Given the description of an element on the screen output the (x, y) to click on. 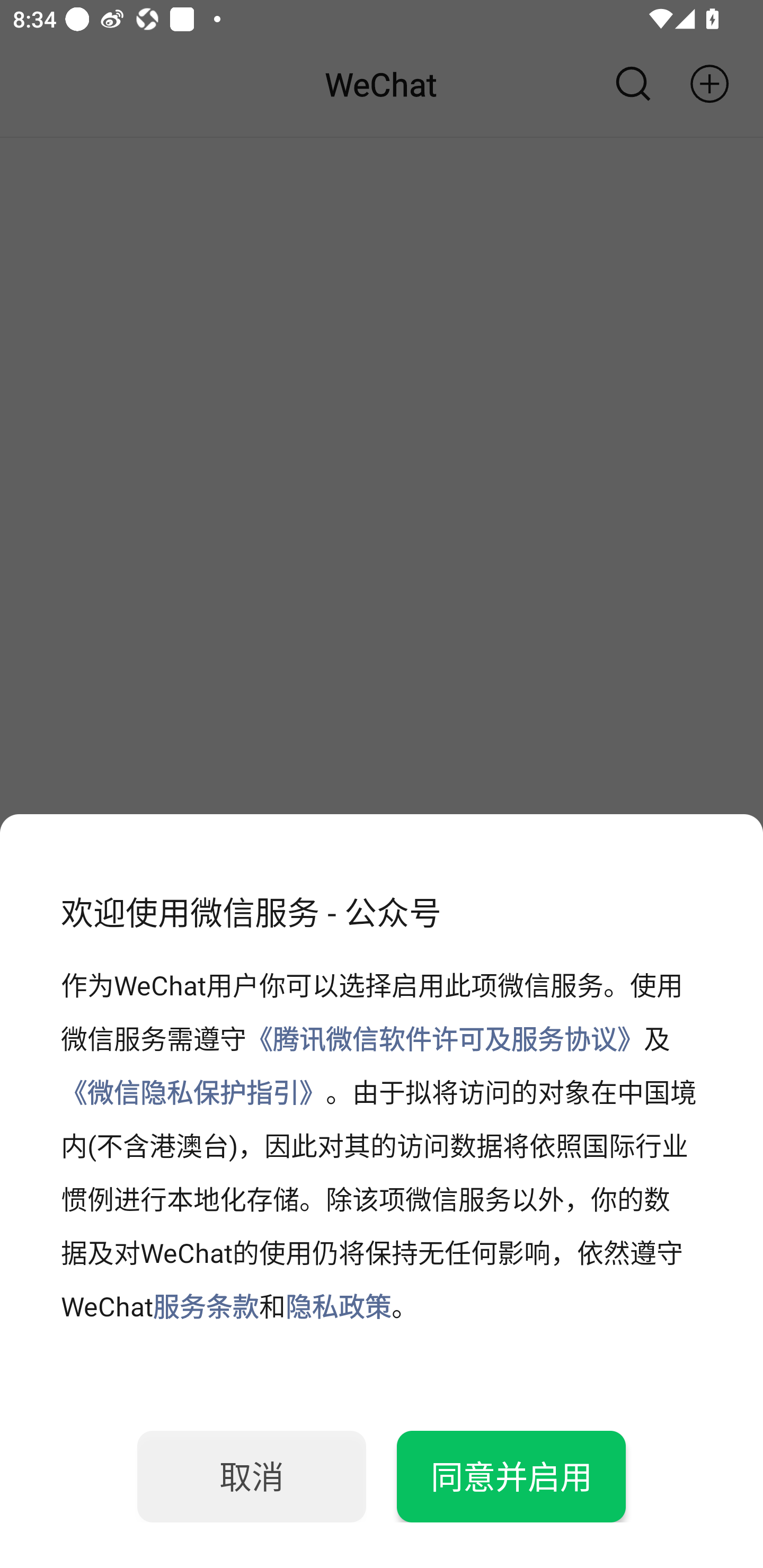
取消 (251, 1476)
同意并启用 (510, 1476)
